Given the description of an element on the screen output the (x, y) to click on. 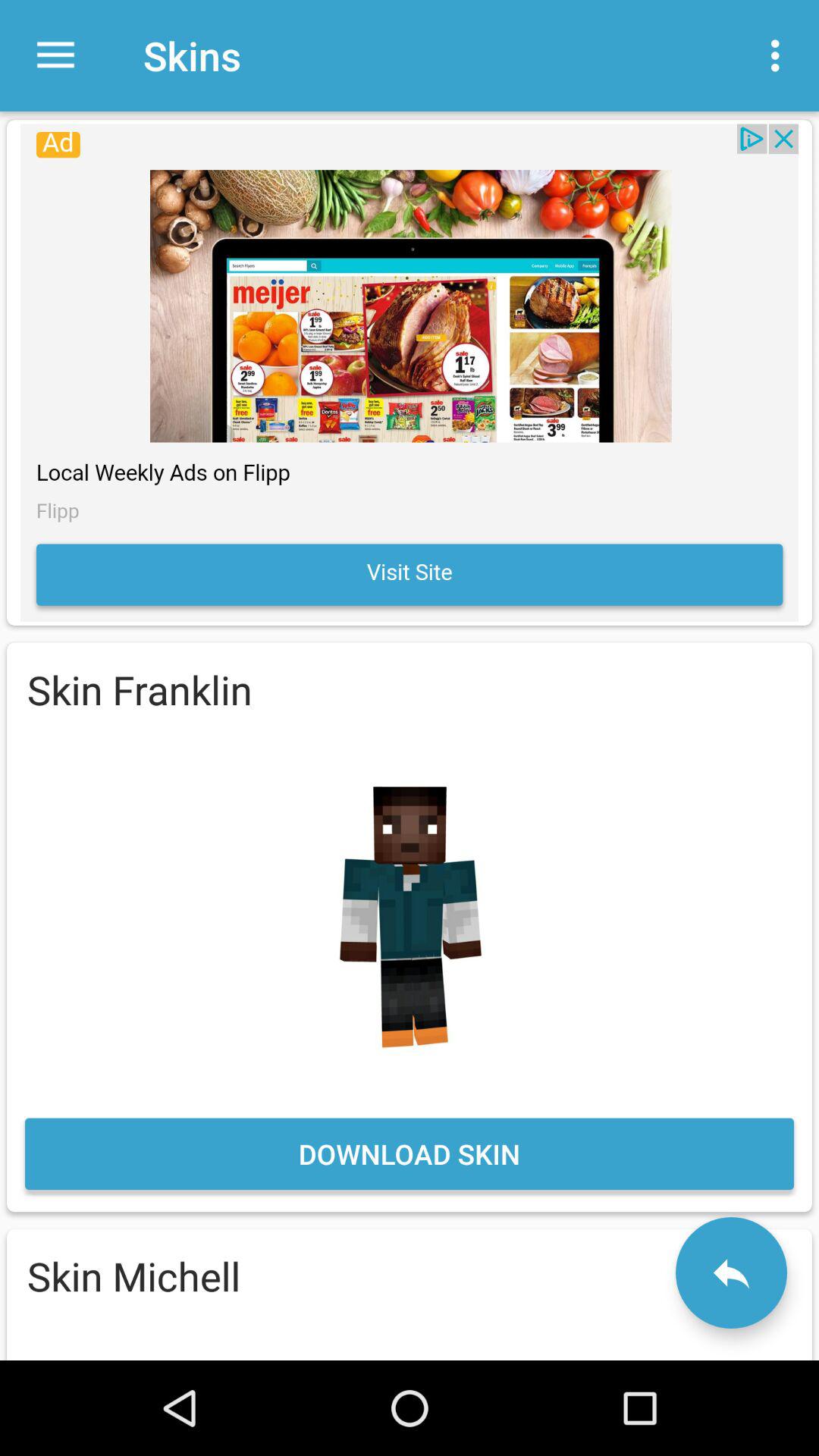
back button (731, 1272)
